Given the description of an element on the screen output the (x, y) to click on. 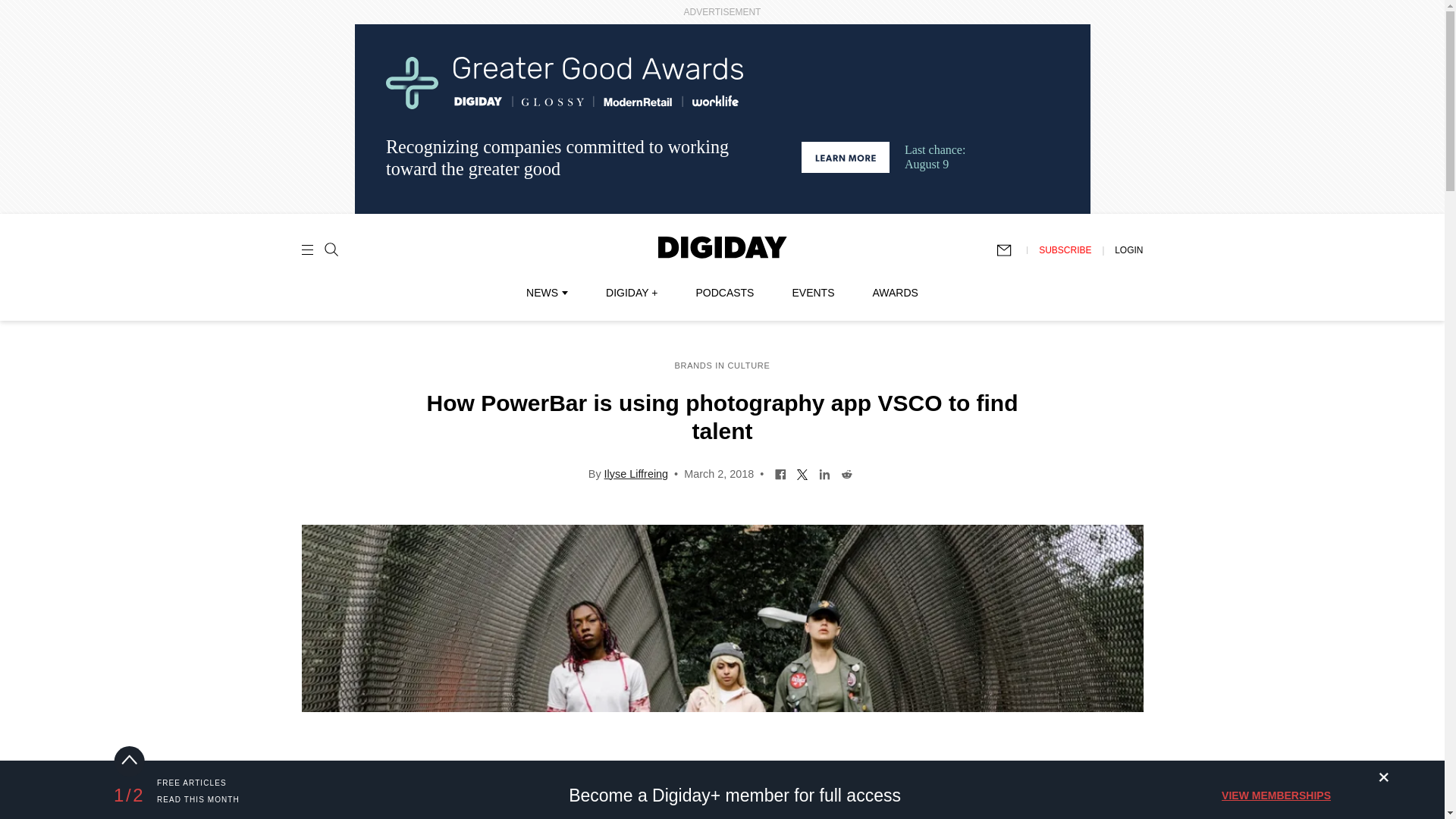
SUBSCRIBE (1064, 249)
Share on Facebook (780, 472)
LOGIN (1128, 249)
Share on LinkedIn (824, 472)
Subscribe (1010, 250)
Share on Reddit (846, 472)
NEWS (546, 292)
PODCASTS (725, 292)
Share on Twitter (802, 472)
EVENTS (813, 292)
AWARDS (894, 292)
